Given the description of an element on the screen output the (x, y) to click on. 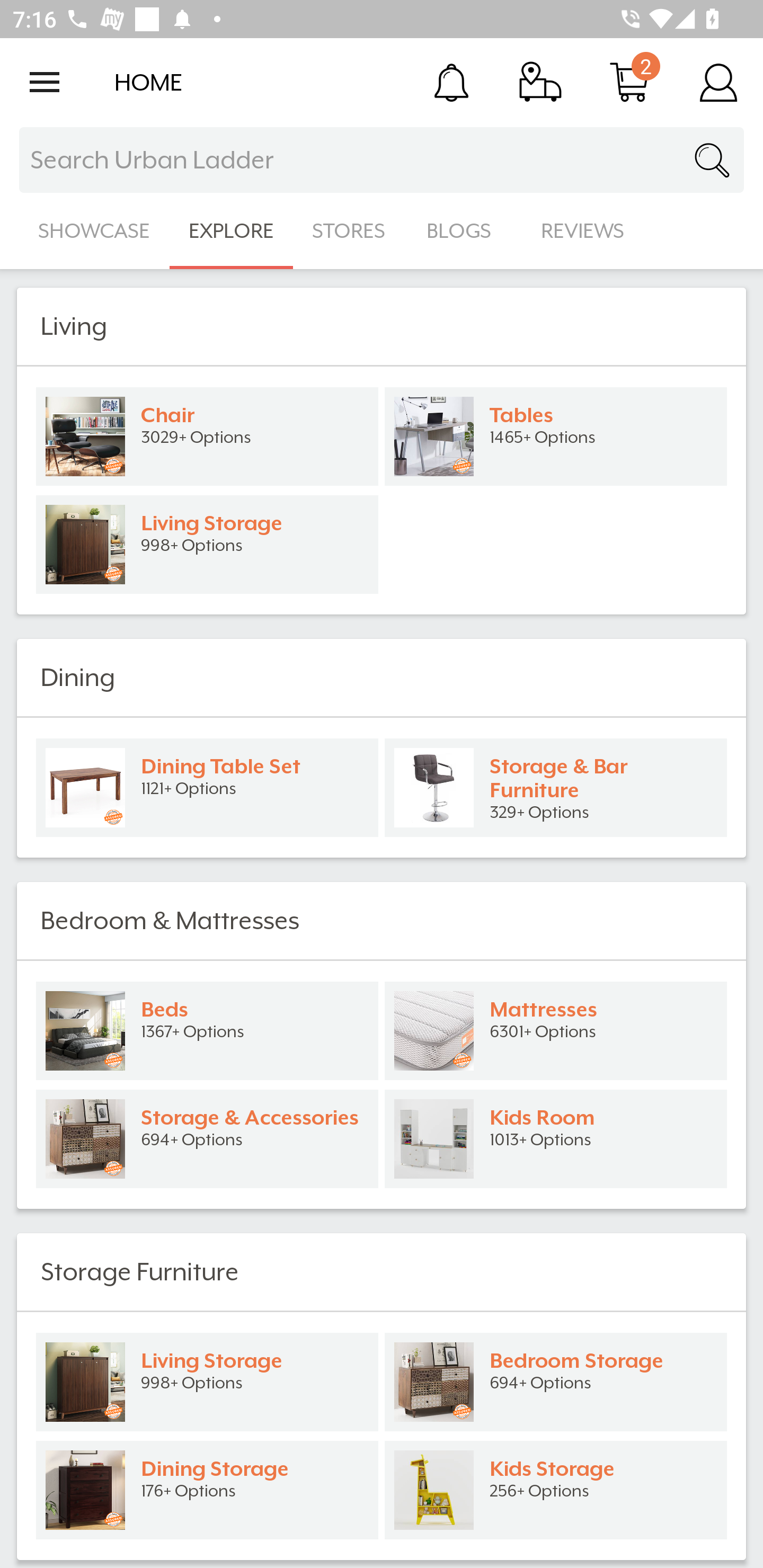
Open navigation drawer (44, 82)
Notification (450, 81)
Track Order (540, 81)
Cart (629, 81)
Account Details (718, 81)
Search Urban Ladder  (381, 159)
SHOWCASE (94, 230)
EXPLORE (230, 230)
STORES (349, 230)
BLOGS (464, 230)
REVIEWS (582, 230)
Chair 3029+ Options (206, 436)
Tables 1465+ Options (555, 436)
Living Storage 998+ Options (206, 544)
Dining Table Set 1121+ Options (206, 787)
Storage & Bar Furniture 329+ Options (555, 787)
Beds 1367+ Options (206, 1030)
Mattresses 6301+ Options (555, 1030)
Storage & Accessories 694+ Options (206, 1139)
Kids Room 1013+ Options (555, 1139)
Living Storage 998+ Options (206, 1382)
Bedroom Storage 694+ Options (555, 1382)
Dining Storage 176+ Options (206, 1490)
Kids Storage 256+ Options (555, 1490)
